Given the description of an element on the screen output the (x, y) to click on. 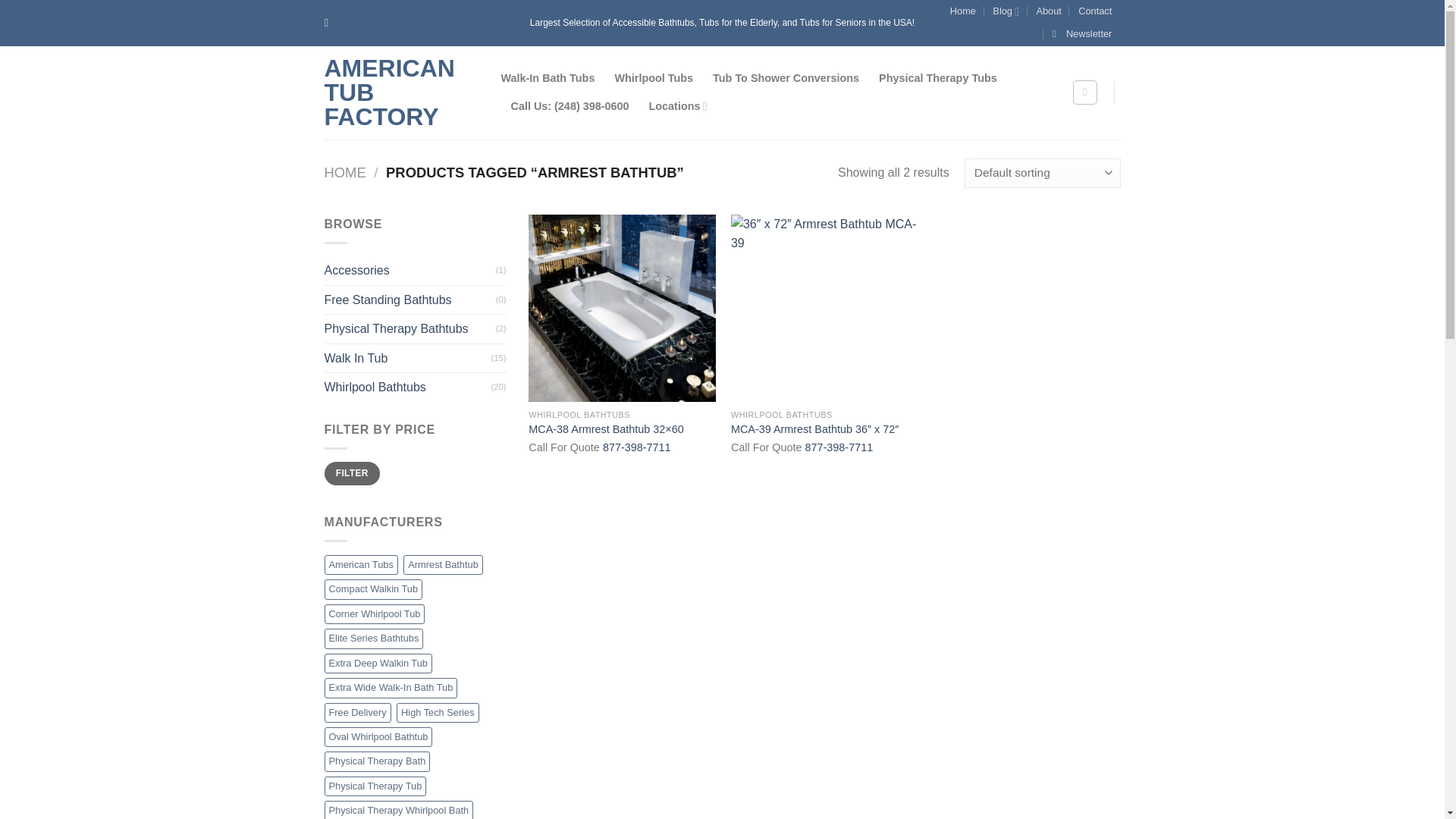
Walk-In Bath Tubs (547, 77)
Sign up for Newsletter (1082, 33)
Tub To Shower Conversions (786, 77)
About (1048, 11)
Locations (678, 106)
Contact (1095, 11)
Newsletter (1082, 33)
Physical Therapy Tubs (938, 77)
AMERICAN TUB FACTORY (401, 92)
Blog (1005, 11)
